Given the description of an element on the screen output the (x, y) to click on. 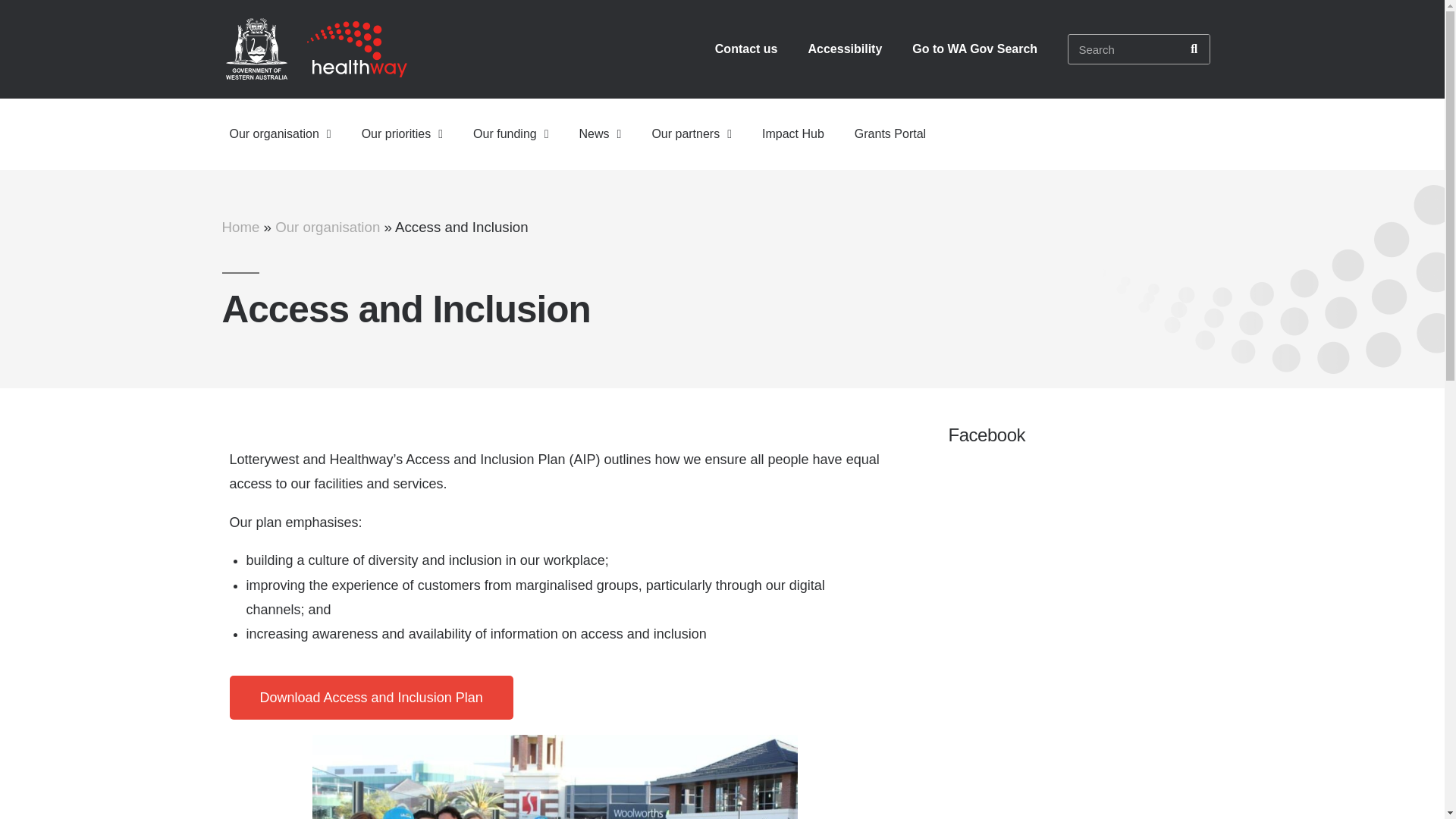
Go to WA Gov Search (974, 48)
Accessibility (844, 48)
Contact us (746, 48)
